Given the description of an element on the screen output the (x, y) to click on. 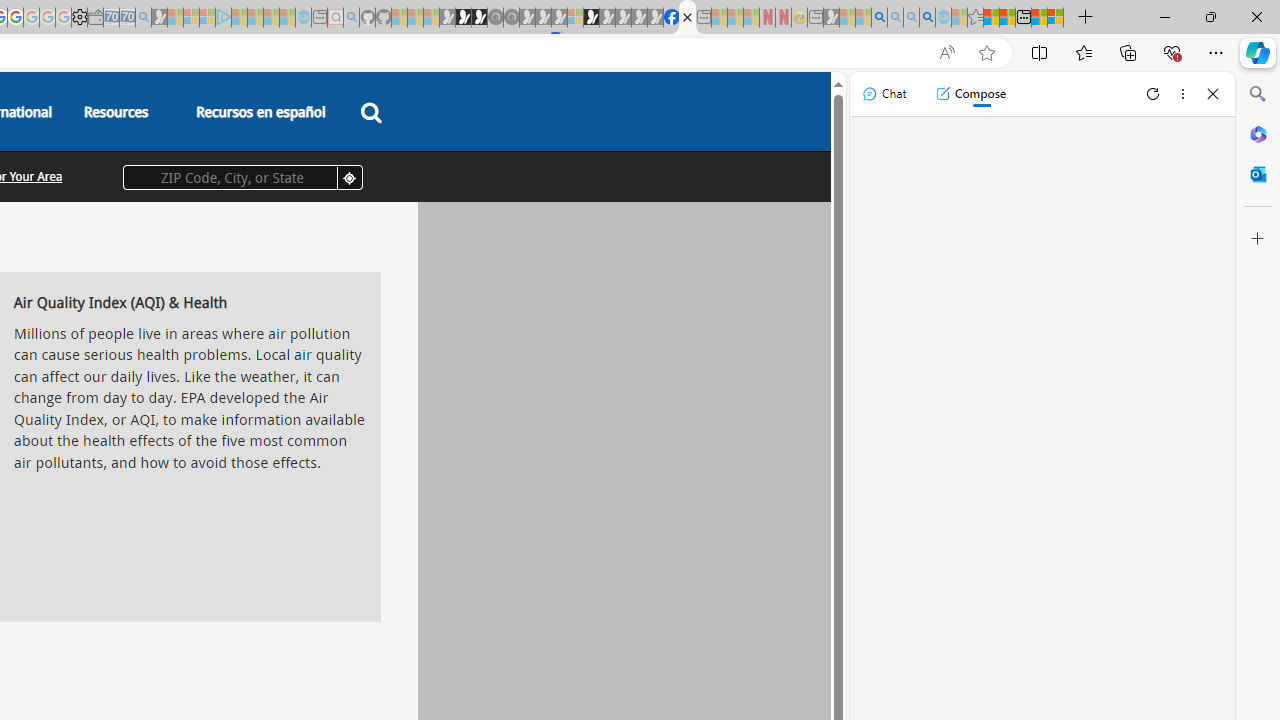
Compose (970, 93)
Microsoft Start Gaming - Sleeping (159, 17)
Class: main-link dropbtn-nav-link (260, 111)
